Given the description of an element on the screen output the (x, y) to click on. 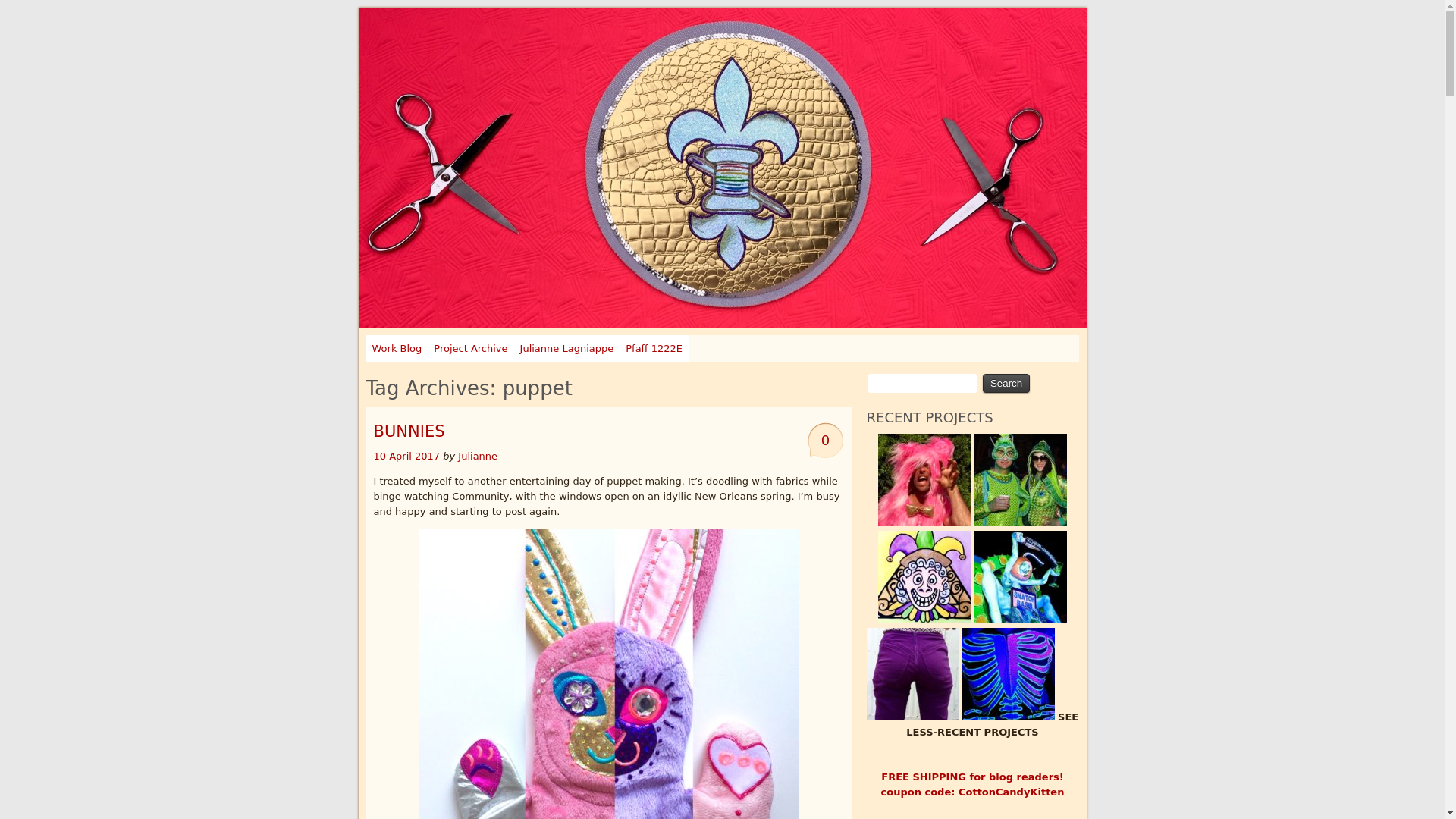
Permalink to BUNNIES (408, 431)
Permanent Link to BUNNIES (407, 455)
Julianne (477, 455)
Project Archive (470, 348)
made by Julianne (463, 28)
View all posts by Julianne (477, 455)
Work Blog (396, 348)
BUNNIES (408, 431)
Pfaff 1222E (654, 348)
Julianne Lagniappe (566, 348)
